Given the description of an element on the screen output the (x, y) to click on. 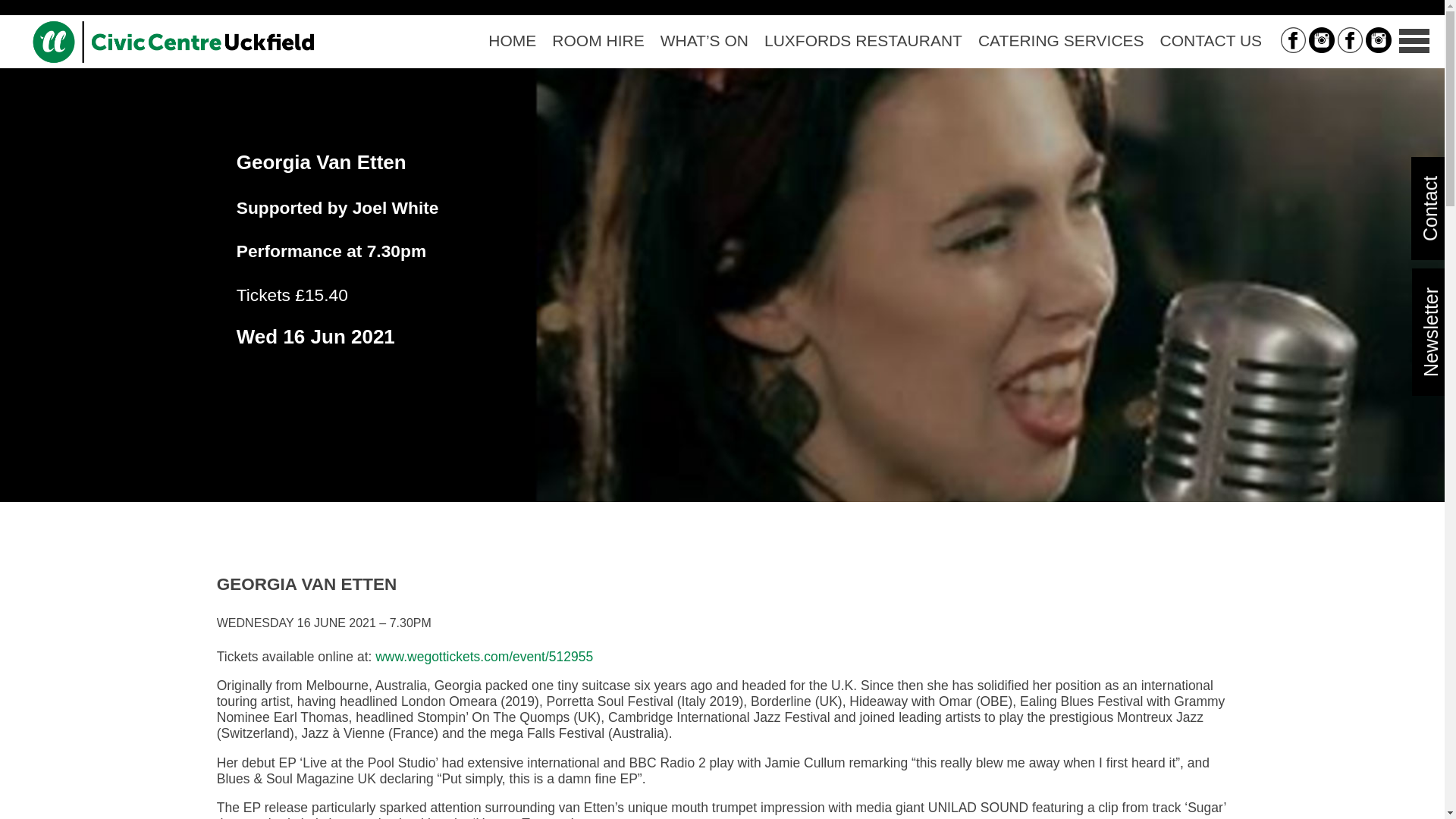
CONTACT US (1210, 41)
HOME (512, 41)
ROOM HIRE (598, 41)
CATERING SERVICES (1060, 41)
LUXFORDS RESTAURANT (862, 41)
